Given the description of an element on the screen output the (x, y) to click on. 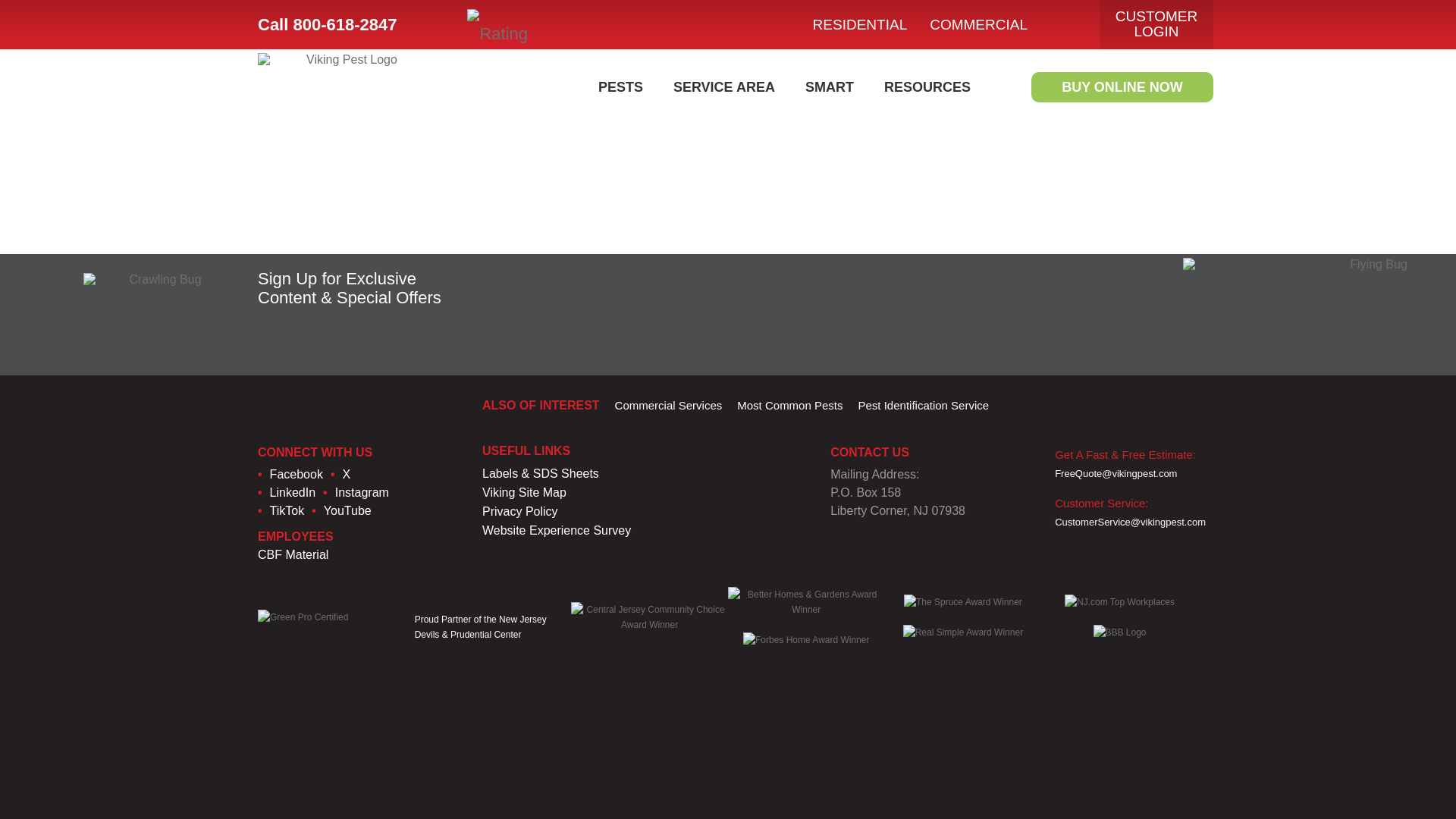
800-618-2847 (357, 24)
RESIDENTIAL (860, 24)
COMMERCIAL (978, 24)
CUSTOMER LOGIN (1155, 24)
